Given the description of an element on the screen output the (x, y) to click on. 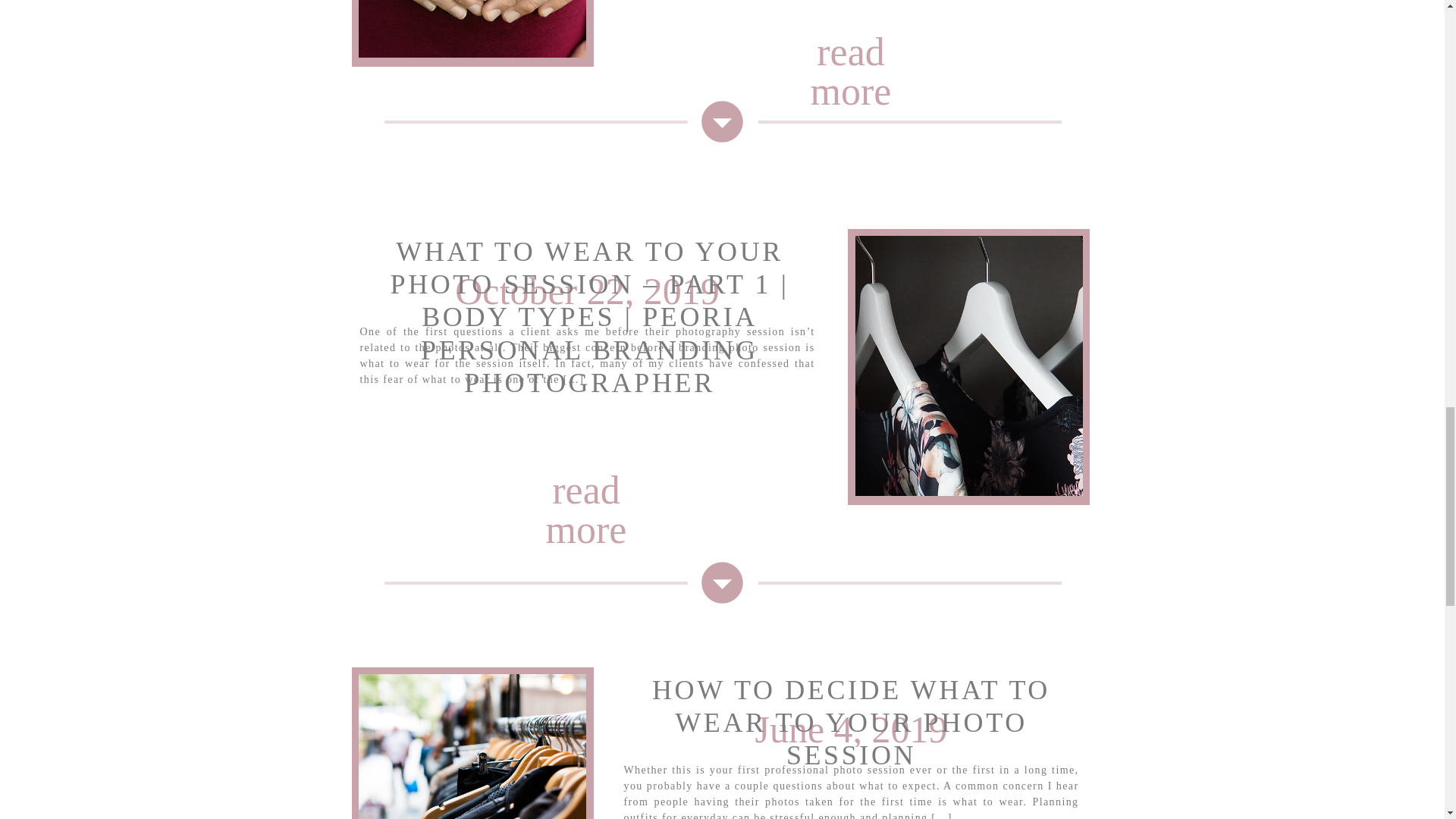
HOW TO DECIDE WHAT TO WEAR TO YOUR PHOTO SESSION (850, 722)
How to Decide What to Wear to Your Photo Session (471, 746)
read more (586, 492)
read more (850, 47)
